Given the description of an element on the screen output the (x, y) to click on. 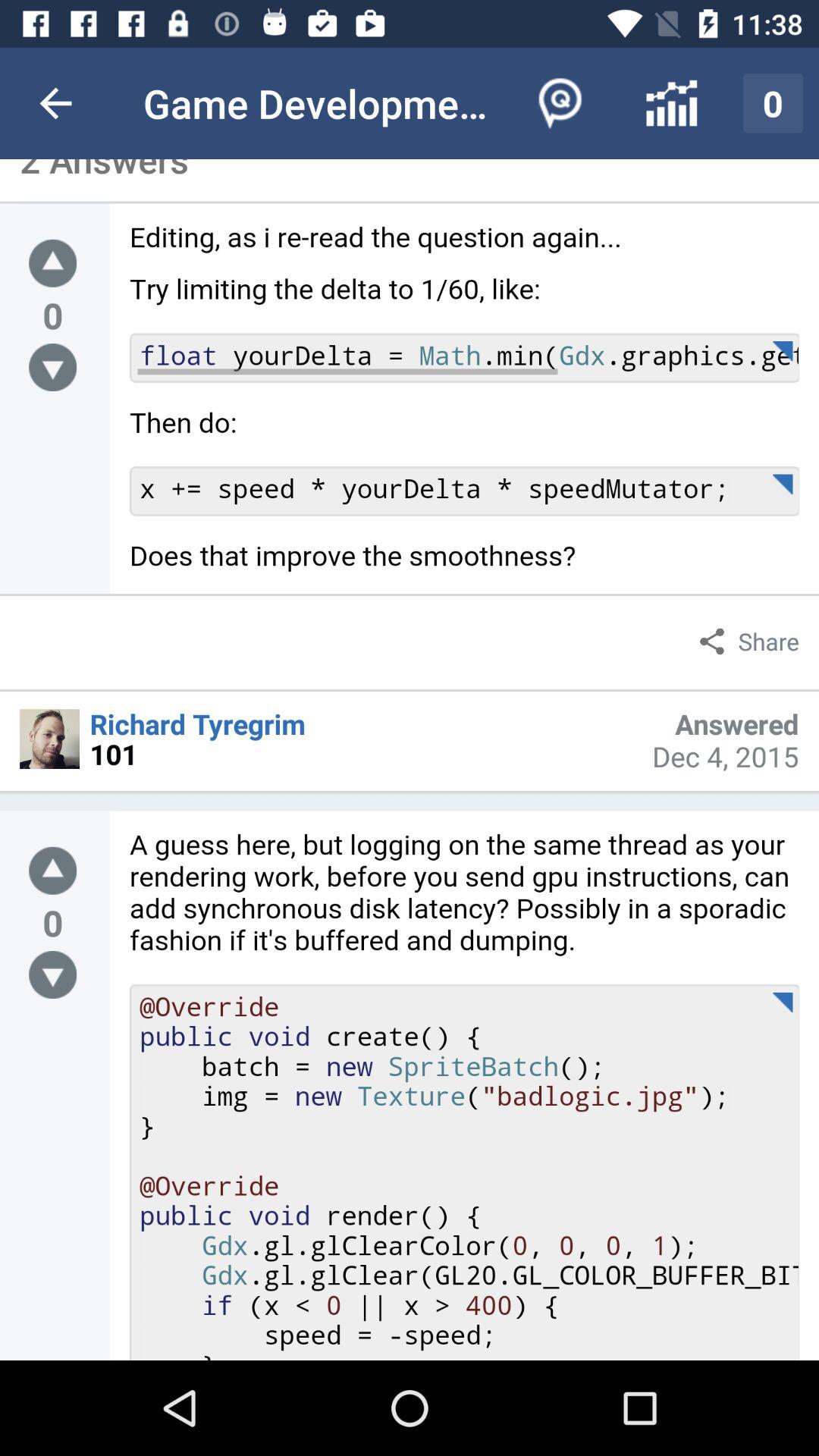
select the icon which is below the text 0 (52, 974)
